Given the description of an element on the screen output the (x, y) to click on. 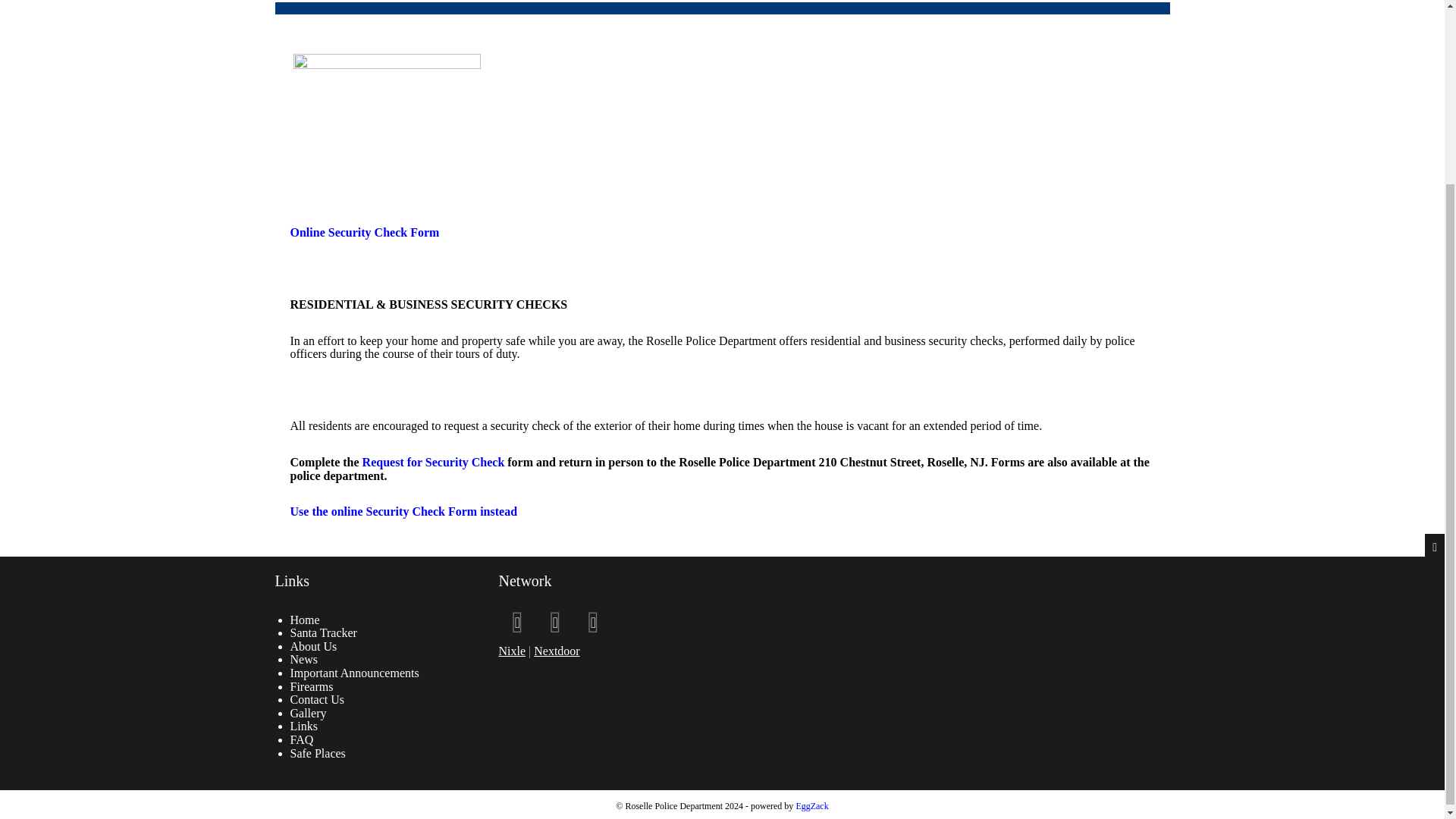
Santa Tracker (322, 632)
Home (303, 619)
Request for Security Check (433, 461)
Use the online Security Check Form instead (402, 511)
Online Security Check Form (364, 232)
